Given the description of an element on the screen output the (x, y) to click on. 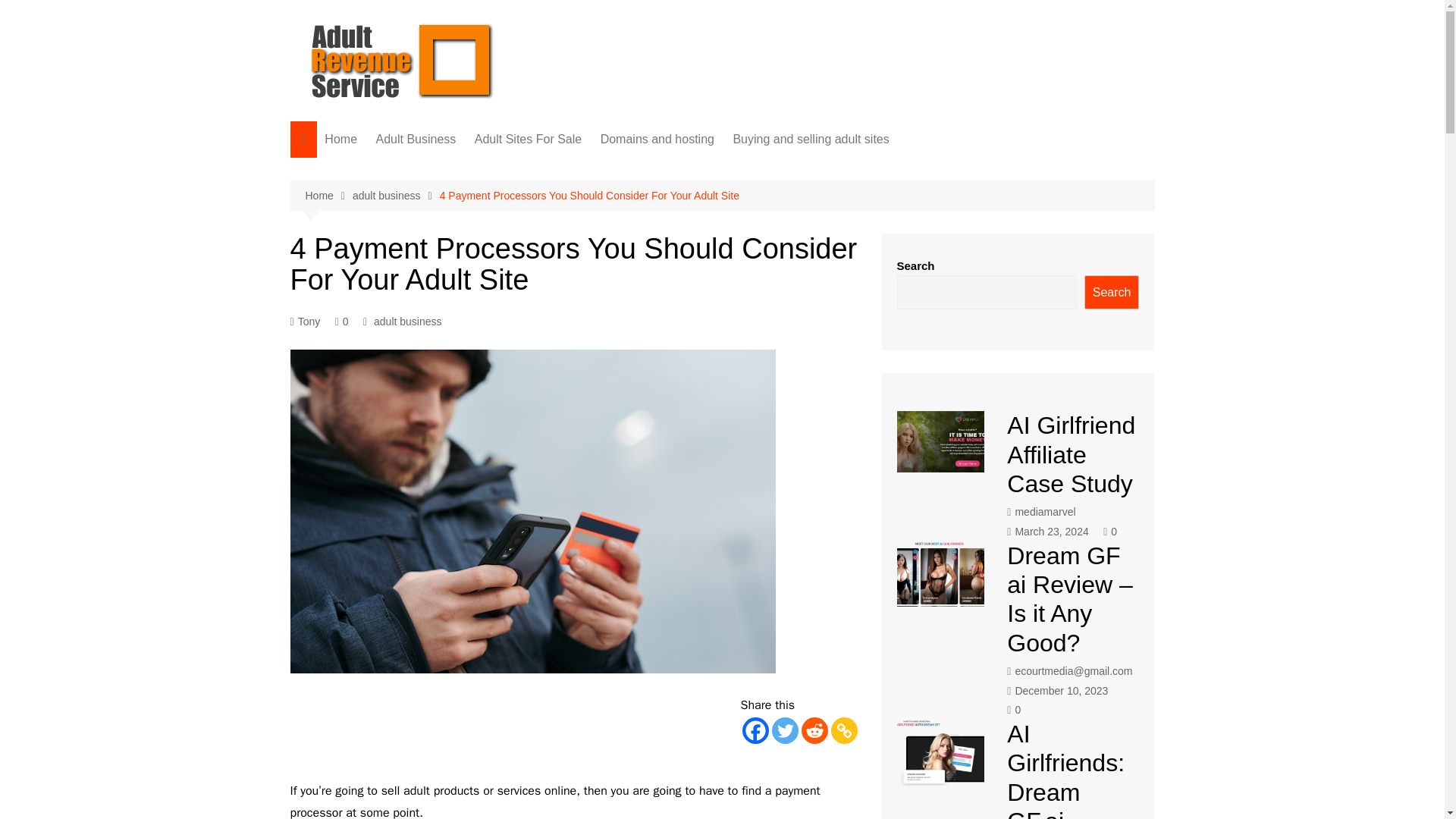
Twitter (784, 730)
Adult Traffic (451, 170)
Adult Sites For Sale (528, 139)
Reddit (813, 730)
Facebook (754, 730)
Home (341, 139)
Adult Business (415, 139)
Copy Link (844, 730)
adult business (395, 195)
Domains and hosting (657, 139)
4 Payment Processors You Should Consider For Your Adult Site (589, 195)
adult business (408, 321)
Tony (304, 321)
Home (328, 195)
Buying and selling adult sites (810, 139)
